Given the description of an element on the screen output the (x, y) to click on. 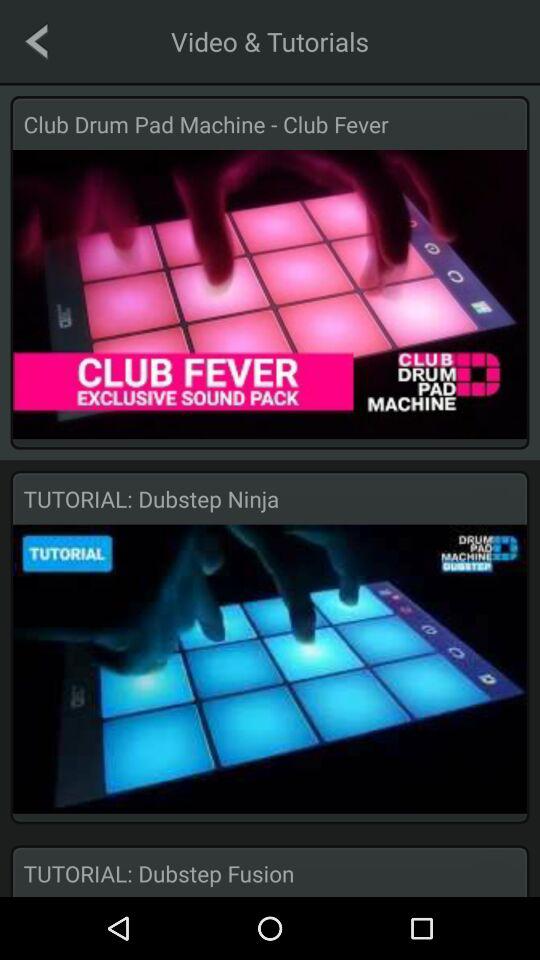
tap the icon to the left of the video & tutorials app (36, 41)
